Given the description of an element on the screen output the (x, y) to click on. 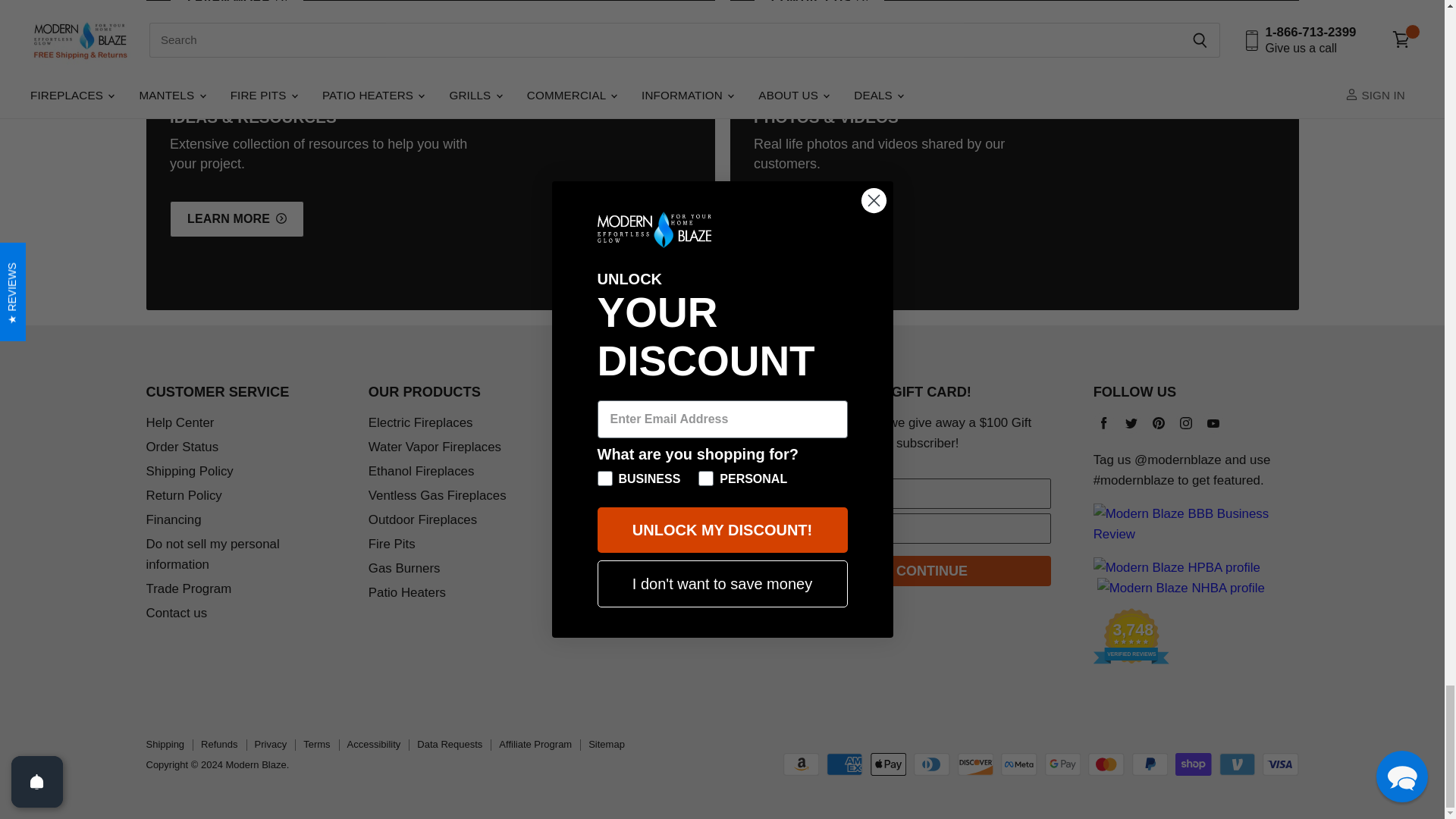
Instagram (1185, 422)
Facebook (1104, 422)
Twitter (1131, 422)
YouTube (1213, 422)
Pinterest (1158, 422)
